Given the description of an element on the screen output the (x, y) to click on. 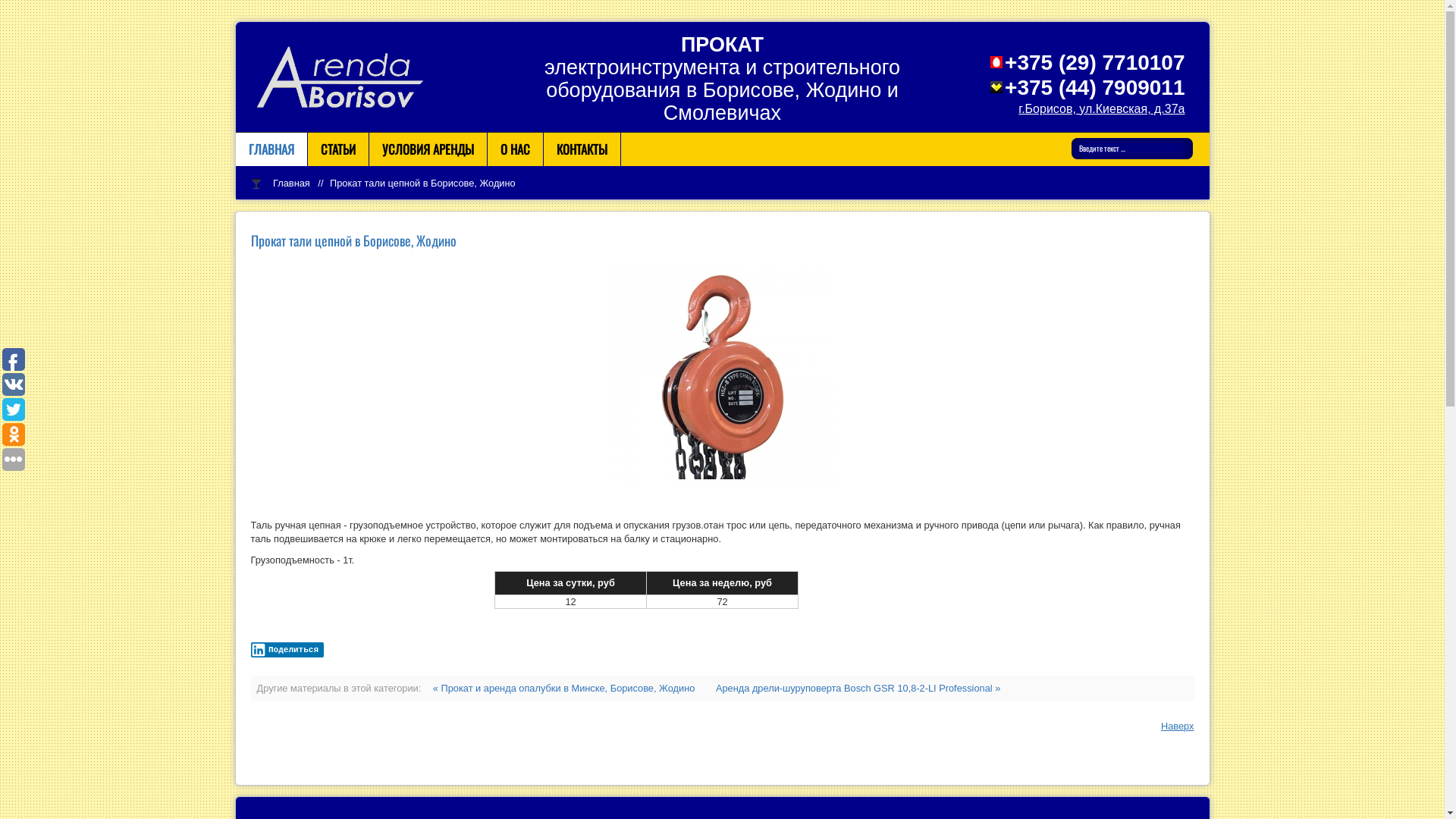
+375 (29) 7710107 Element type: text (1094, 62)
+375 (44) 7909011 Element type: text (1094, 87)
